Given the description of an element on the screen output the (x, y) to click on. 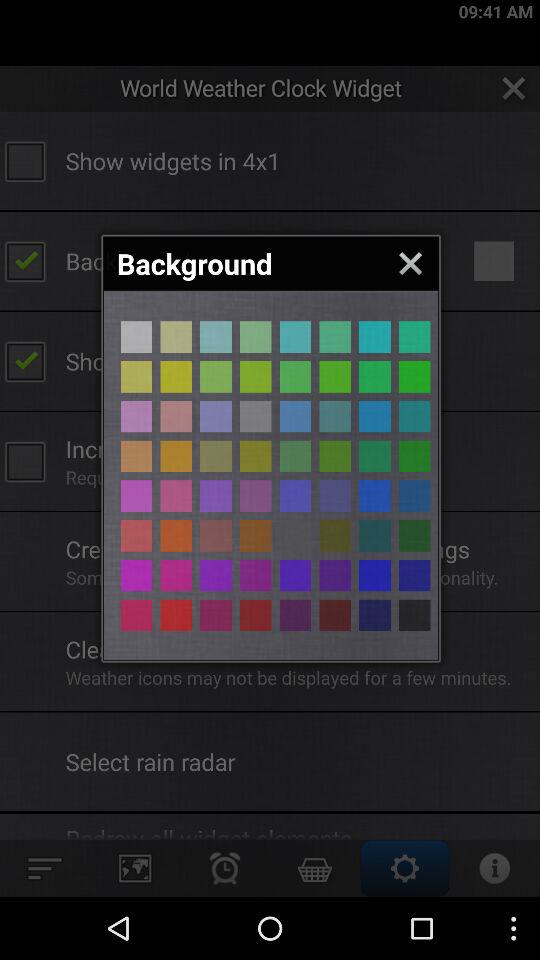
background colour designing (335, 336)
